Given the description of an element on the screen output the (x, y) to click on. 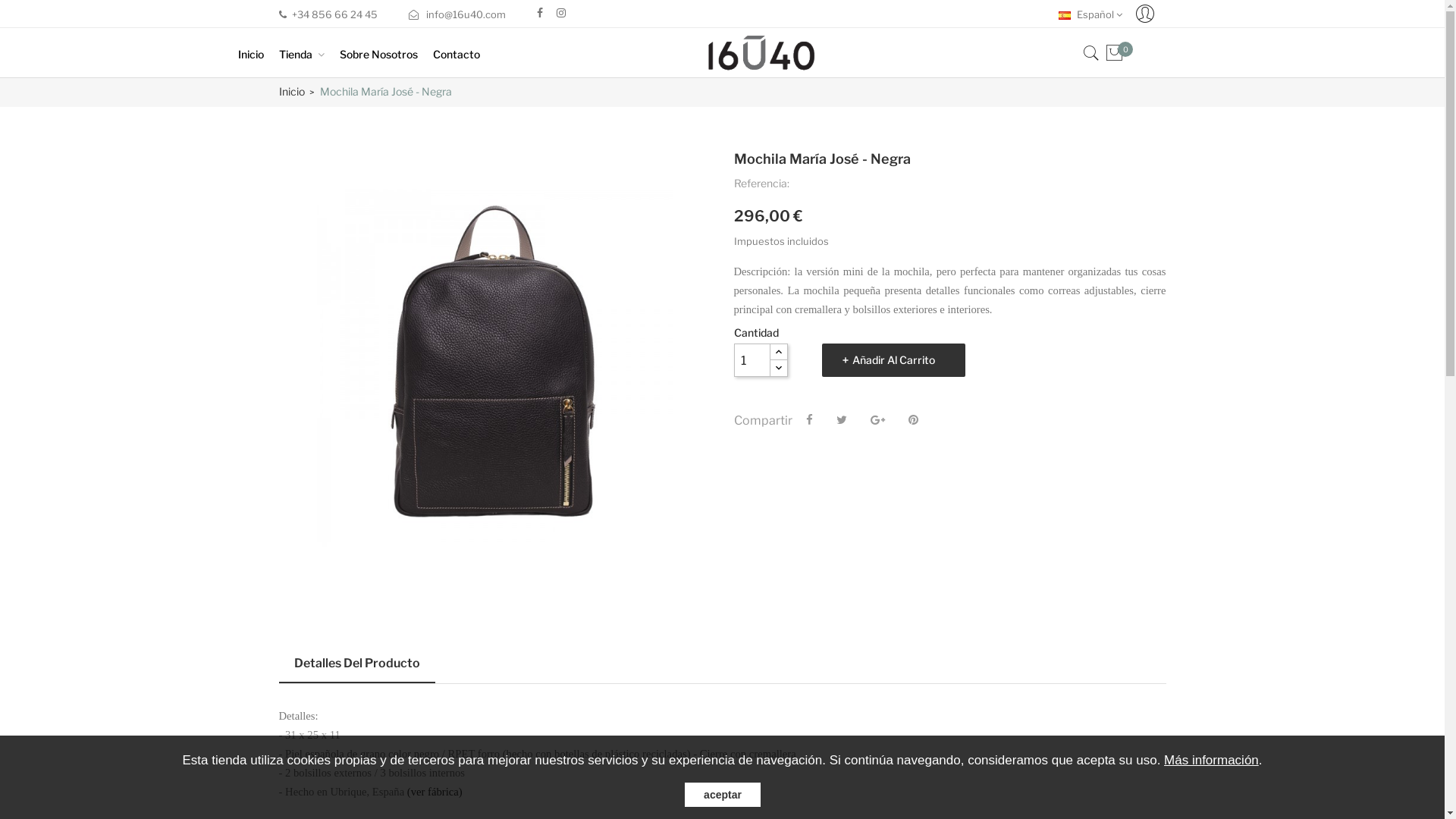
Tuitear Element type: hover (840, 420)
Inicio Element type: text (291, 90)
Instagram Element type: hover (560, 12)
Google+ Element type: hover (877, 420)
Pinterest Element type: hover (912, 420)
Contacto Element type: text (464, 54)
Sobre Nosotros Element type: text (386, 54)
Actualizar Element type: text (34, 8)
Facebook Element type: hover (539, 12)
Inicio Element type: text (258, 54)
aceptar Element type: text (722, 794)
Compartir Element type: hover (808, 420)
Tienda Element type: text (309, 54)
Detalles Del Producto Element type: text (357, 667)
Carrito
0 Element type: text (1120, 56)
